Given the description of an element on the screen output the (x, y) to click on. 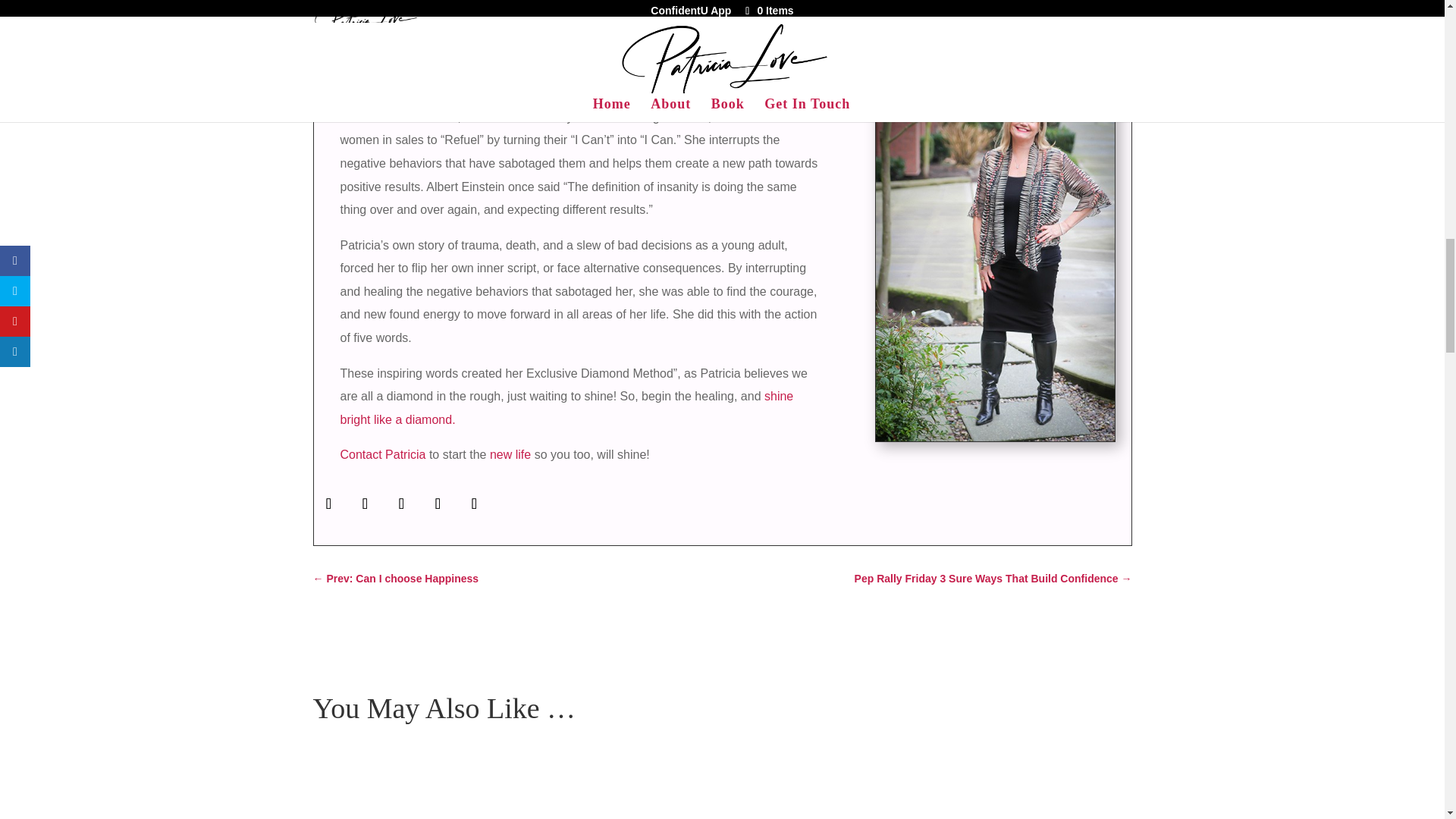
new life (510, 454)
Follow on Instagram (401, 503)
shine bright like a diamond. (566, 407)
Follow on LinkedIn (474, 503)
Contact Patricia (382, 454)
Follow on Pinterest (437, 503)
Follow on Facebook (328, 503)
Follow on X (365, 503)
